Given the description of an element on the screen output the (x, y) to click on. 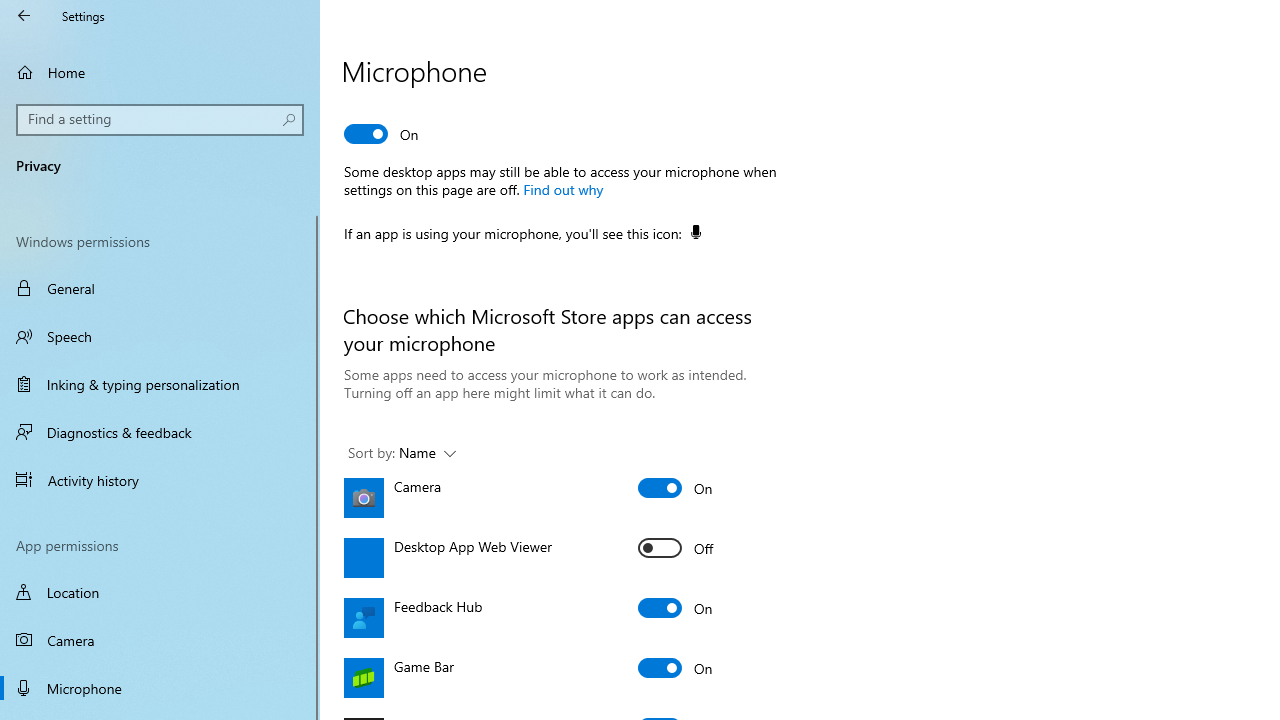
General (160, 287)
Desktop App Web Viewer (675, 547)
